Given the description of an element on the screen output the (x, y) to click on. 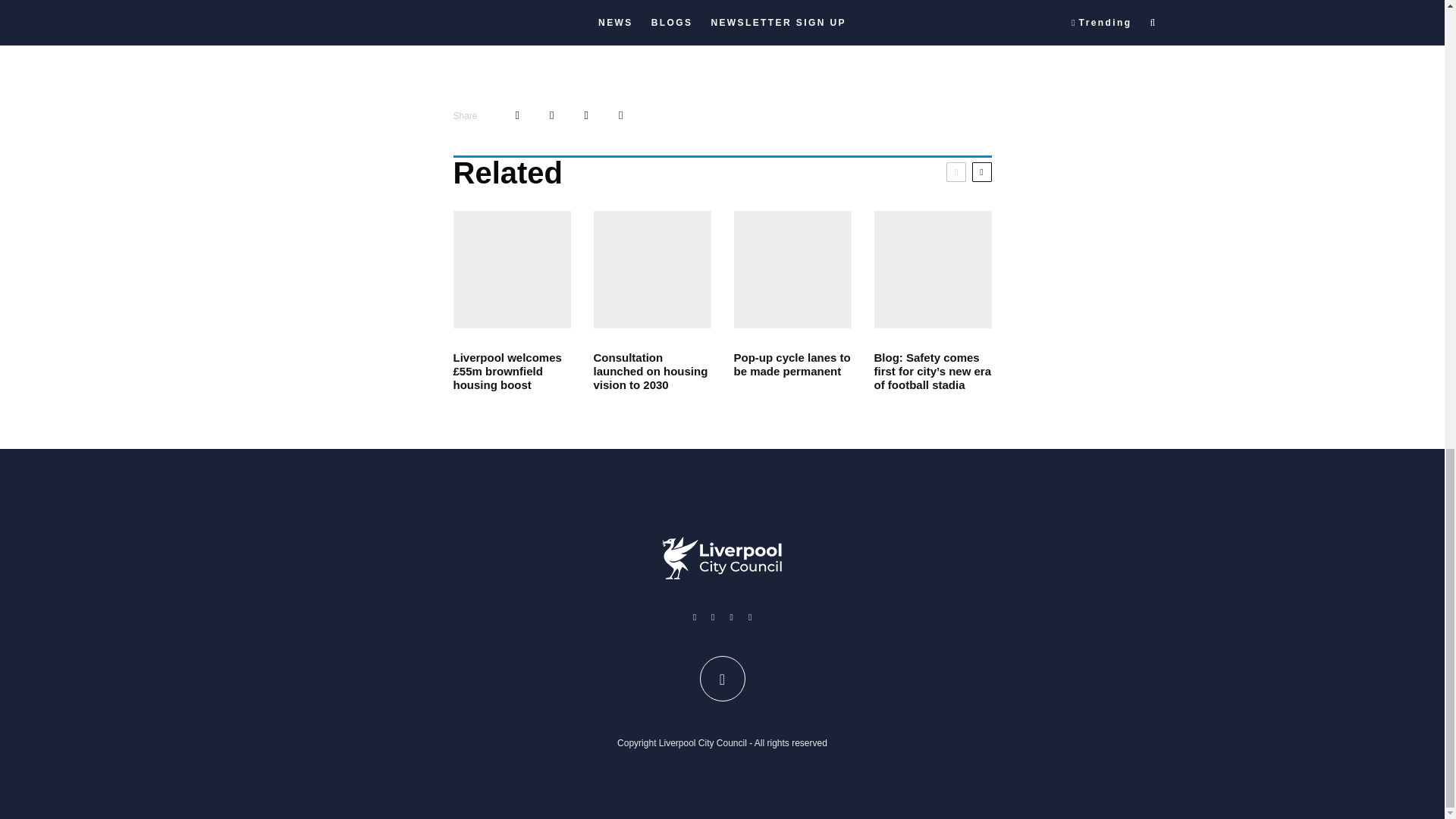
Consultation launched on housing vision to 2030 (651, 371)
Pop-up cycle lanes to be made permanent (792, 364)
